Given the description of an element on the screen output the (x, y) to click on. 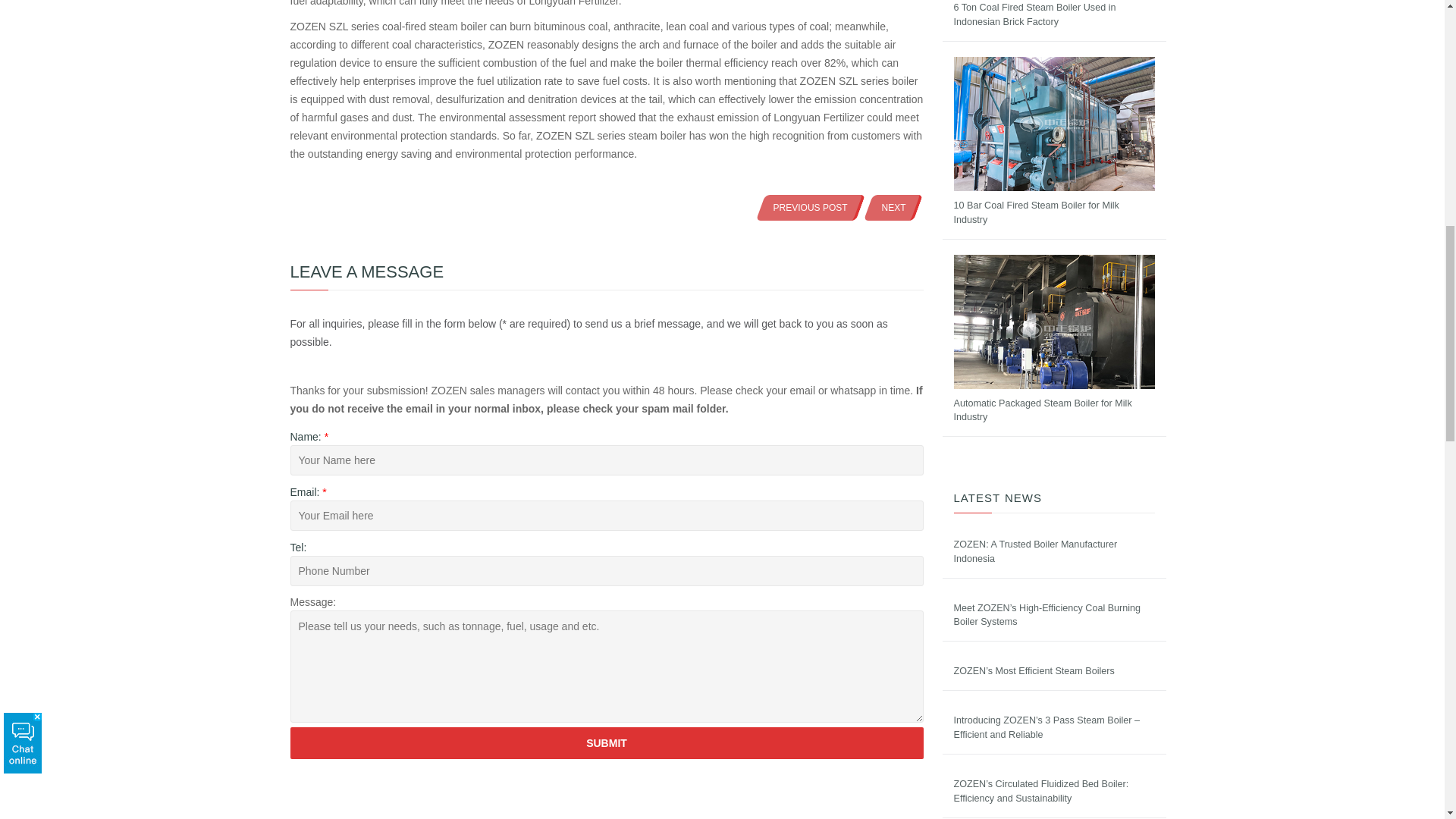
SUBMIT (606, 743)
10 Bar Coal Fired Steam Boiler for Milk Industry (1036, 212)
NEXT (892, 207)
10 Bar Coal Fired Steam Boiler for Milk Industry (1036, 212)
Please enter your phone number (606, 571)
SUBMIT (606, 743)
PREVIOUS POST (810, 207)
ZOZEN: A Trusted Boiler Manufacturer Indonesia (1035, 551)
Automatic Packaged Steam Boiler for Milk Industry (1042, 409)
Automatic Packaged Steam Boiler for Milk Industry (1042, 409)
